Given the description of an element on the screen output the (x, y) to click on. 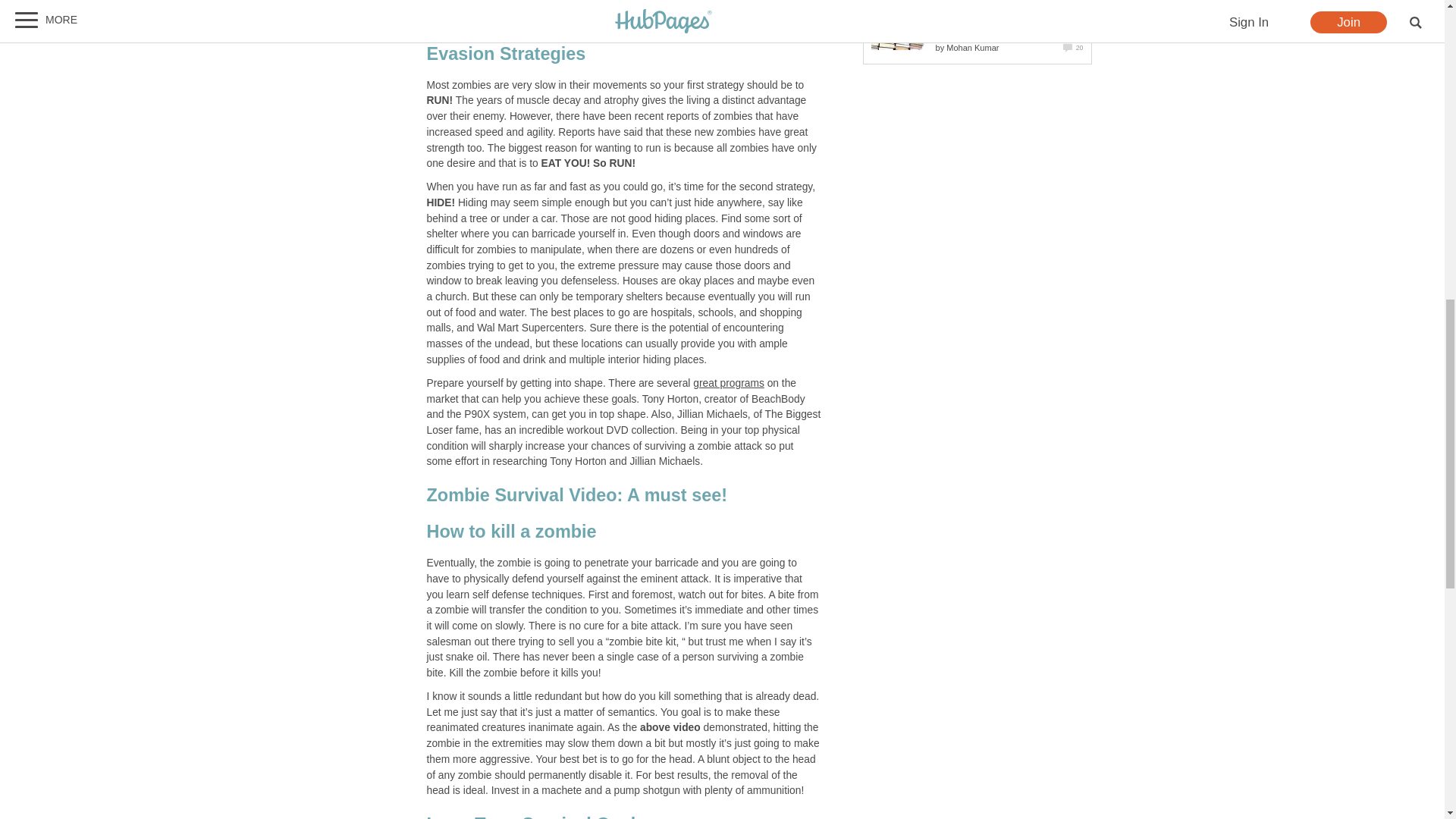
The Earnestness of Being an Imp (898, 24)
